Given the description of an element on the screen output the (x, y) to click on. 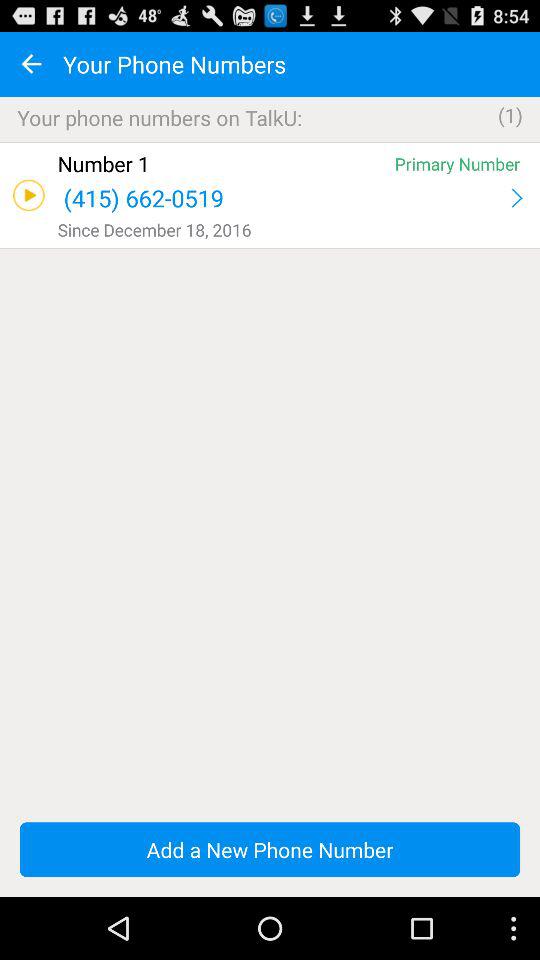
choose the app below the number 1 icon (282, 198)
